Given the description of an element on the screen output the (x, y) to click on. 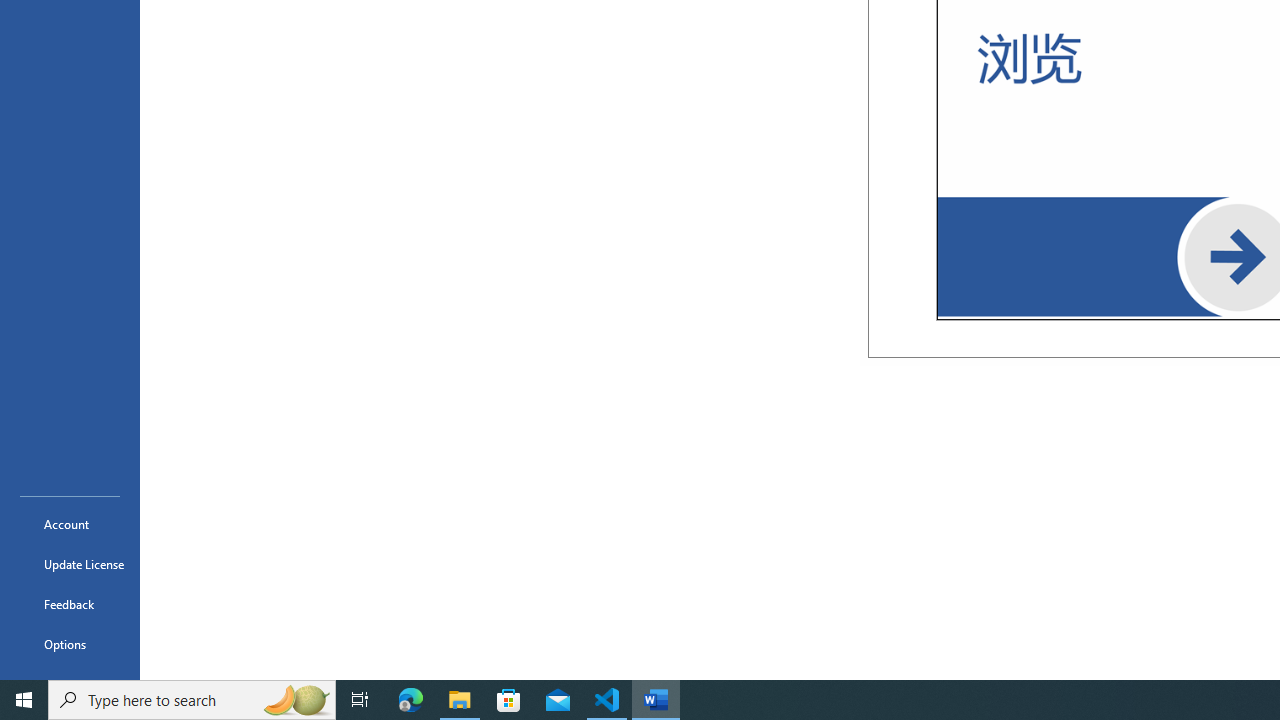
Options (69, 643)
Feedback (69, 603)
Update License (69, 563)
Account (69, 523)
